Given the description of an element on the screen output the (x, y) to click on. 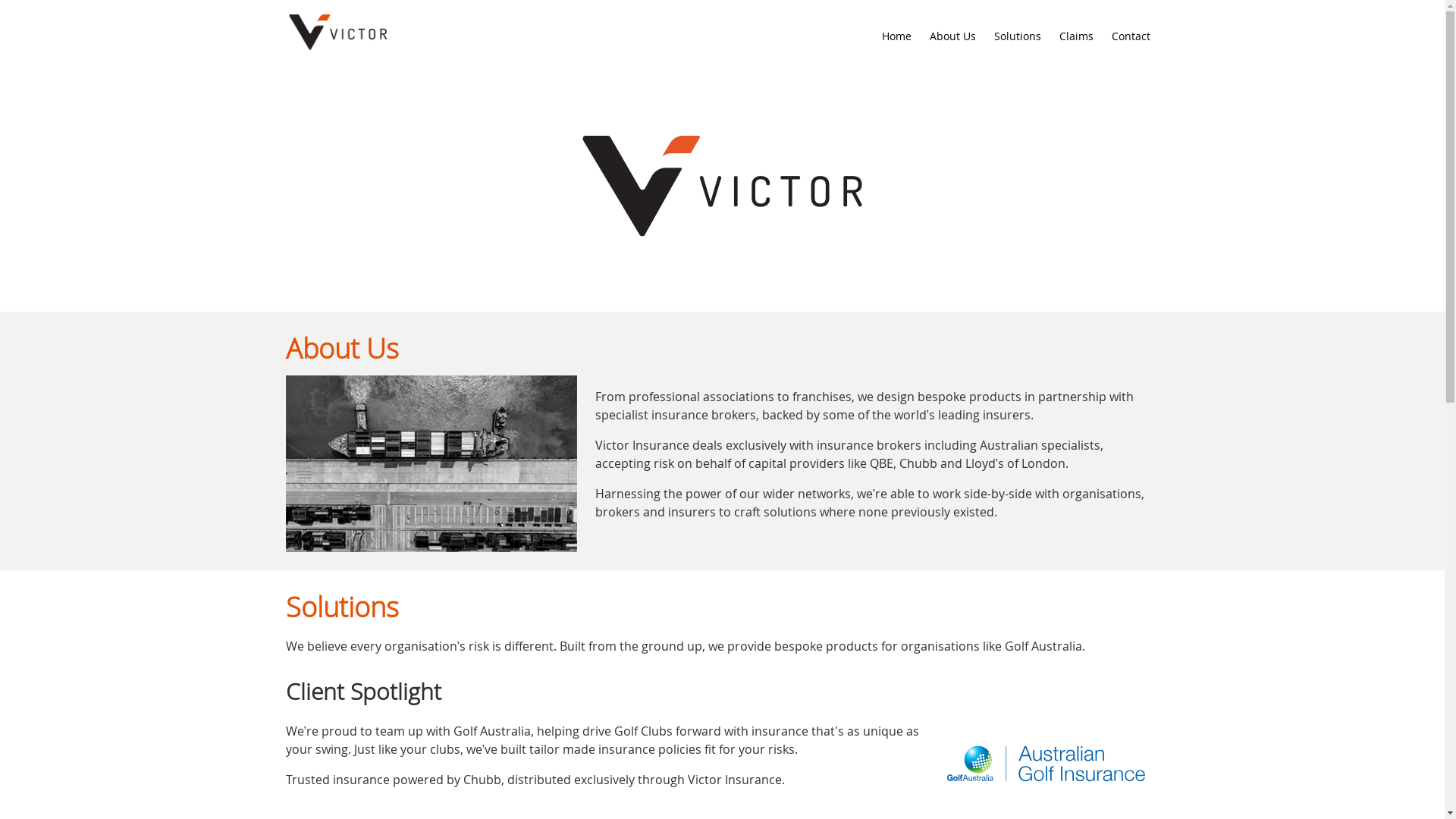
JLT Element type: text (338, 35)
Solutions Element type: text (1017, 36)
Claims Element type: text (1076, 36)
Home Element type: text (896, 36)
About Us Element type: text (952, 36)
Contact Element type: text (1130, 36)
